Given the description of an element on the screen output the (x, y) to click on. 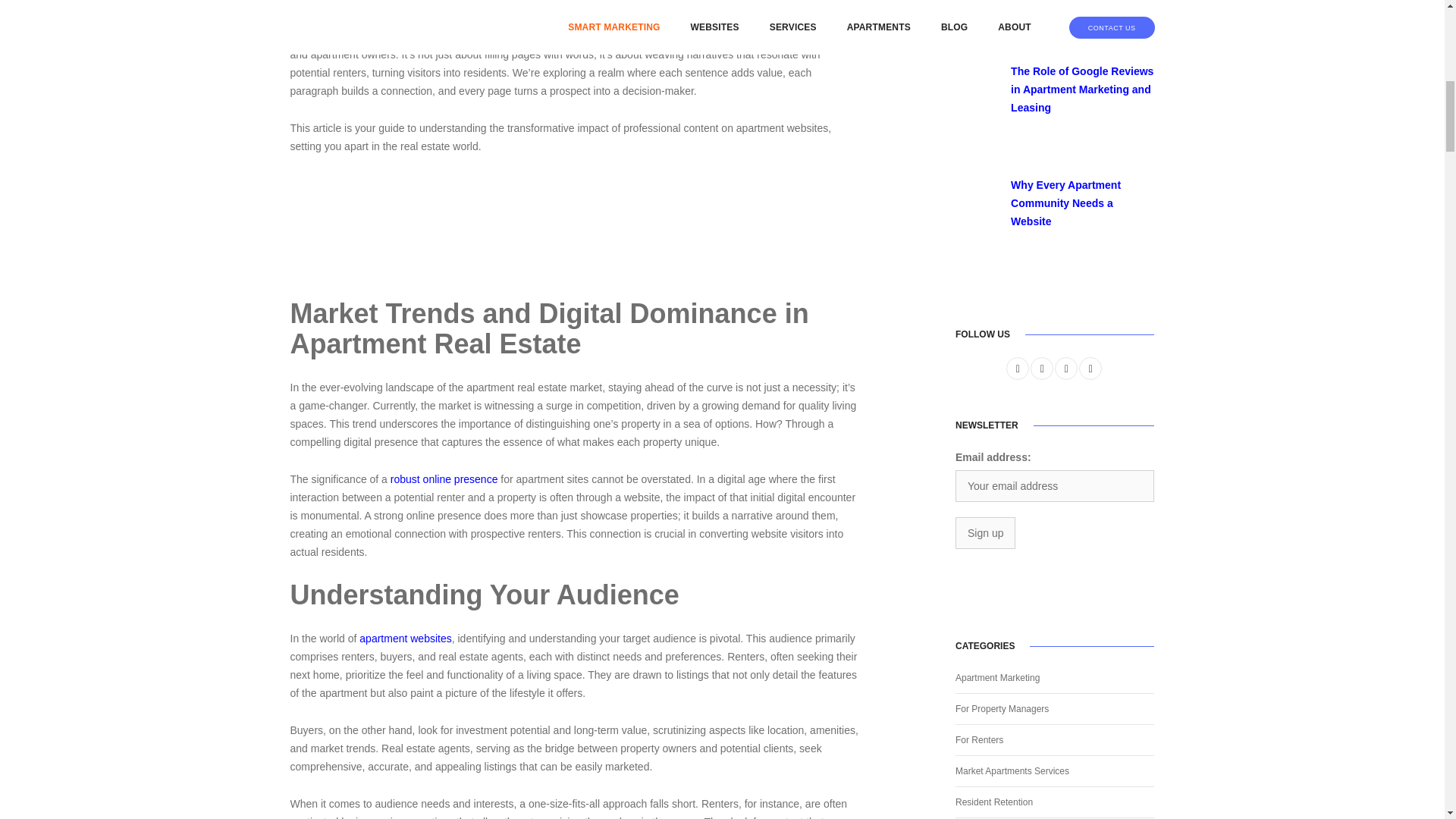
Sign up (984, 532)
The Art of Crafting the Perfect Apartment Listing (971, 4)
